Given the description of an element on the screen output the (x, y) to click on. 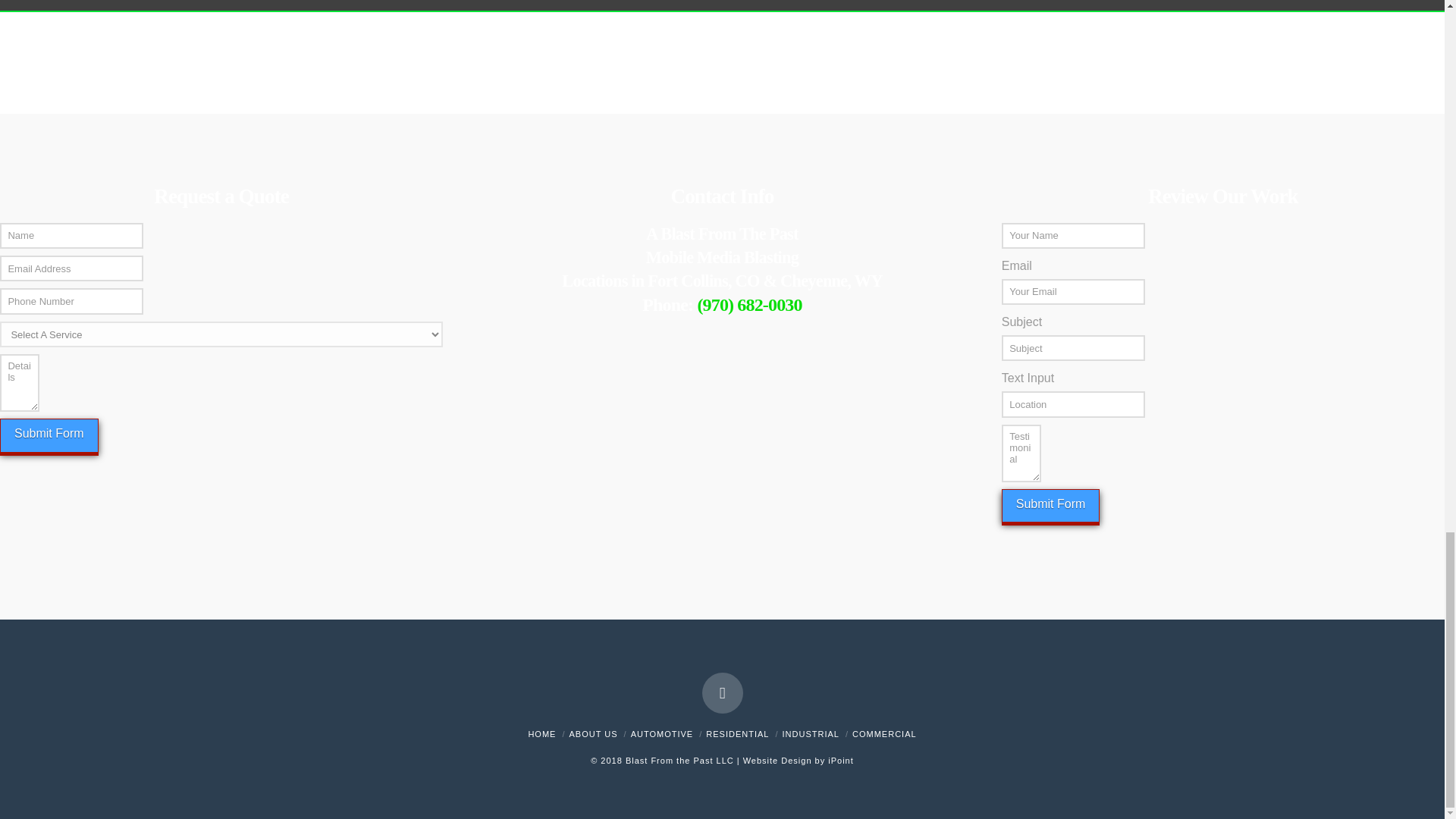
Submit Form (49, 435)
iPoint (840, 759)
Submit Form (1050, 505)
ABOUT US (593, 733)
AUTOMOTIVE (662, 733)
RESIDENTIAL (737, 733)
Fort Collins Web Design (840, 759)
HOME (541, 733)
INDUSTRIAL (811, 733)
YouTube (721, 692)
COMMERCIAL (884, 733)
